Given the description of an element on the screen output the (x, y) to click on. 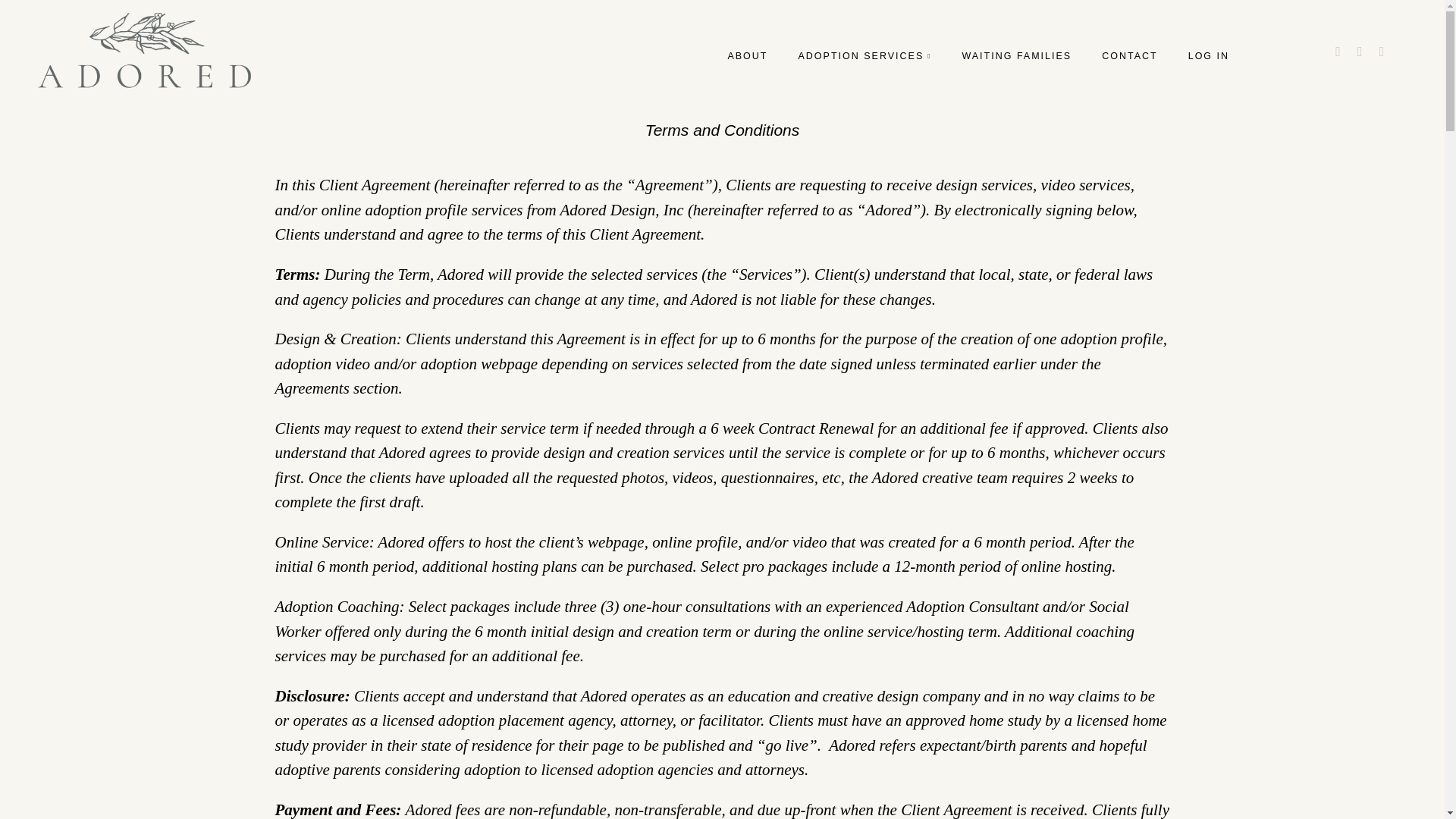
CONTACT (1129, 56)
ADOPTION SERVICES (864, 56)
ABOUT (746, 56)
LOG IN (1208, 56)
WAITING FAMILIES (1015, 56)
